Given the description of an element on the screen output the (x, y) to click on. 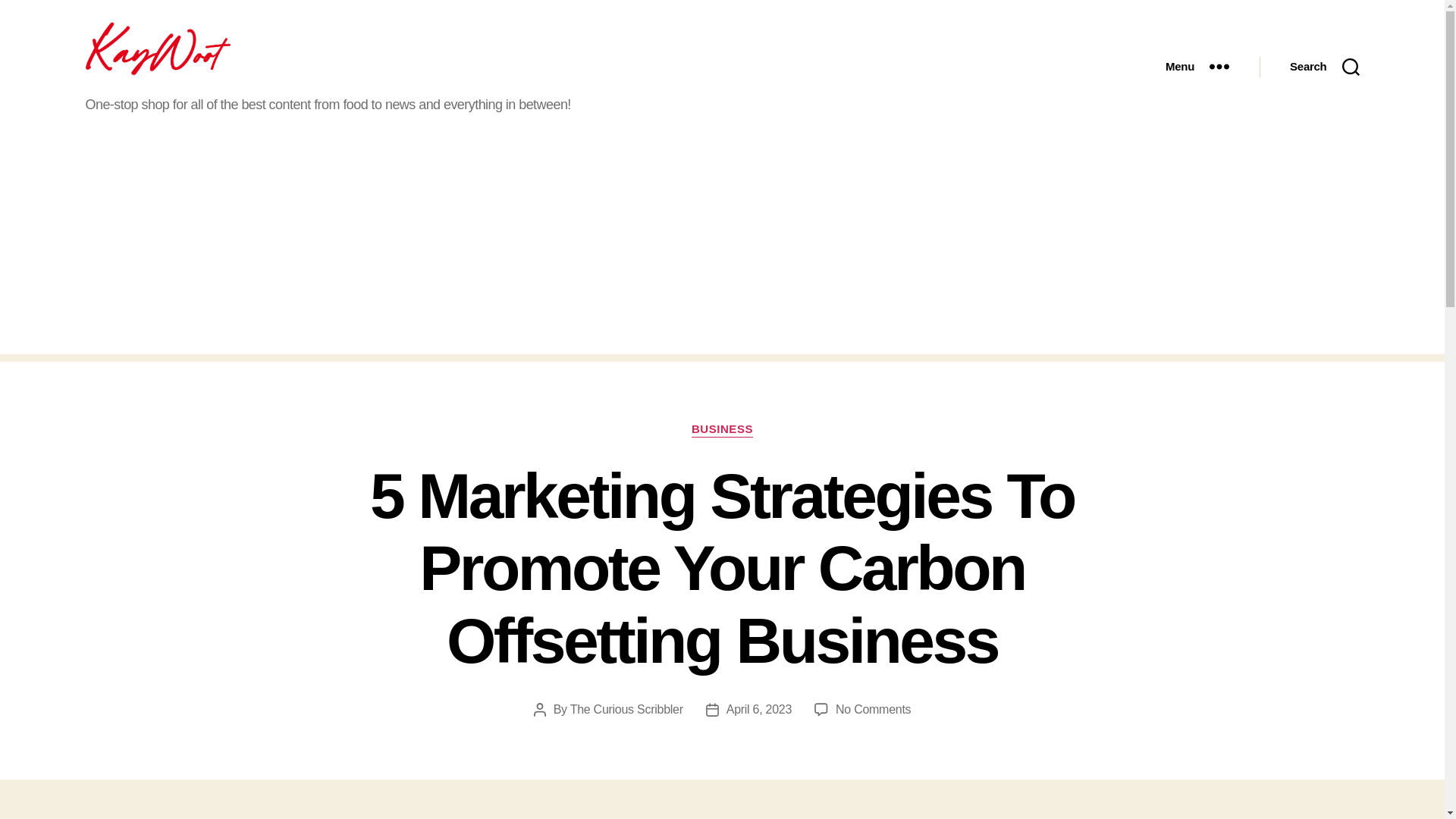
Menu (1197, 66)
Search (1324, 66)
